Given the description of an element on the screen output the (x, y) to click on. 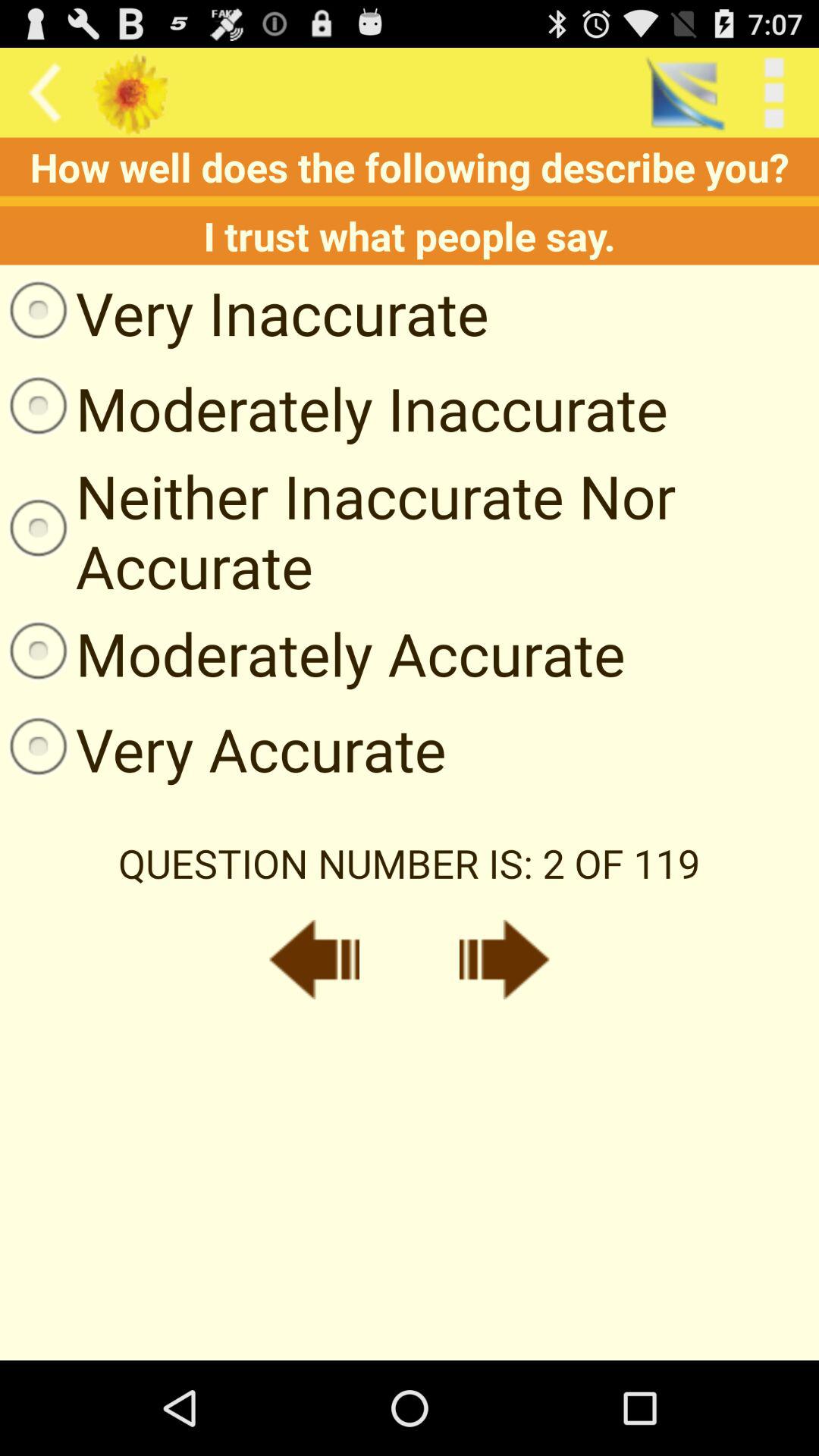
turn on item next to the < back item (684, 92)
